Given the description of an element on the screen output the (x, y) to click on. 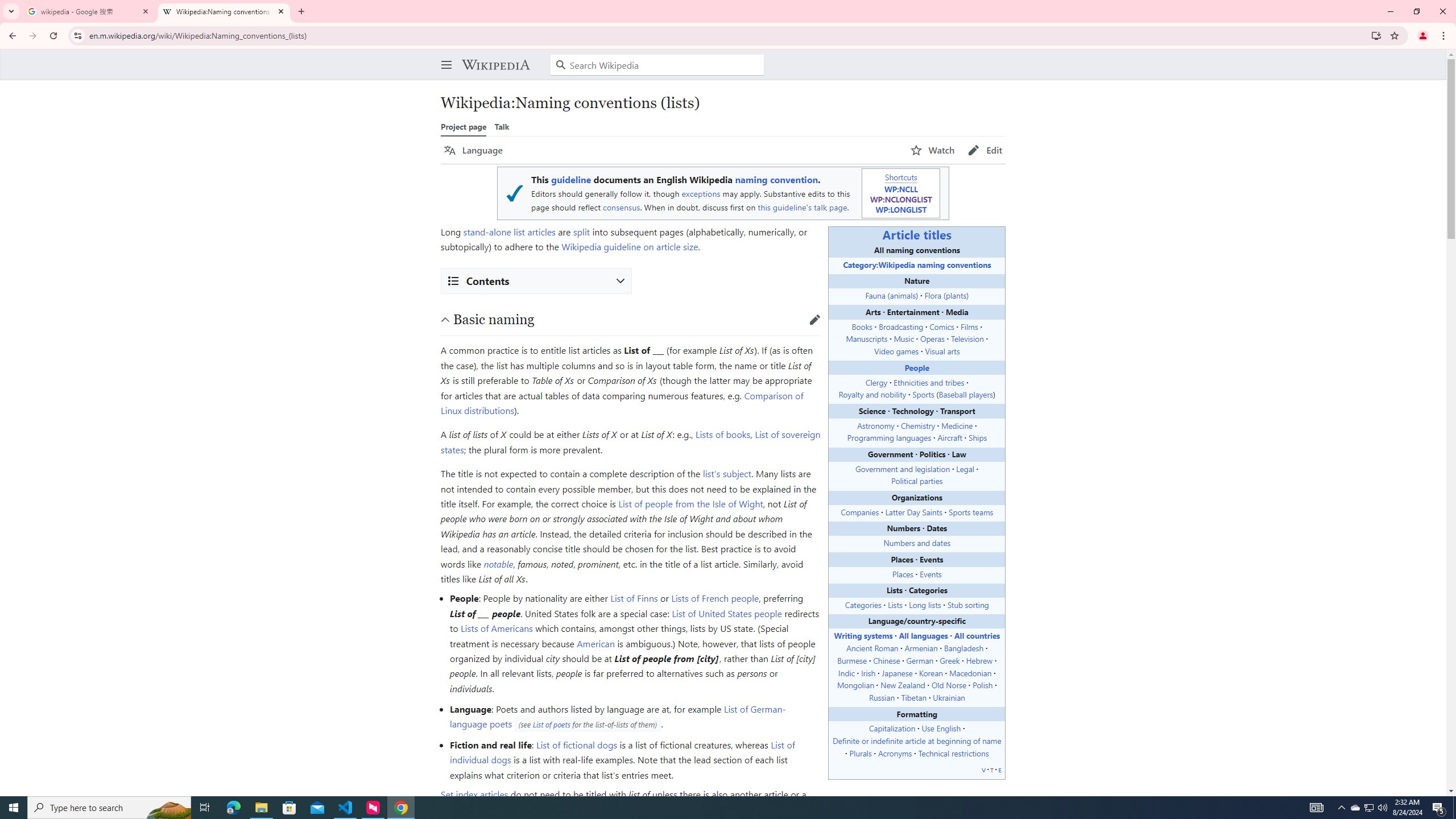
AutomationID: language-selector (670, 150)
Set index articles (473, 793)
Technical restrictions (952, 752)
People (916, 366)
Korean (930, 672)
list's subject (726, 473)
Irish (868, 672)
consensus (621, 206)
Lists of books (722, 434)
AutomationID: page-actions-edit (984, 150)
Programming languages (888, 437)
American (595, 643)
Clergy (875, 381)
v (983, 769)
Broadcasting (900, 326)
